Given the description of an element on the screen output the (x, y) to click on. 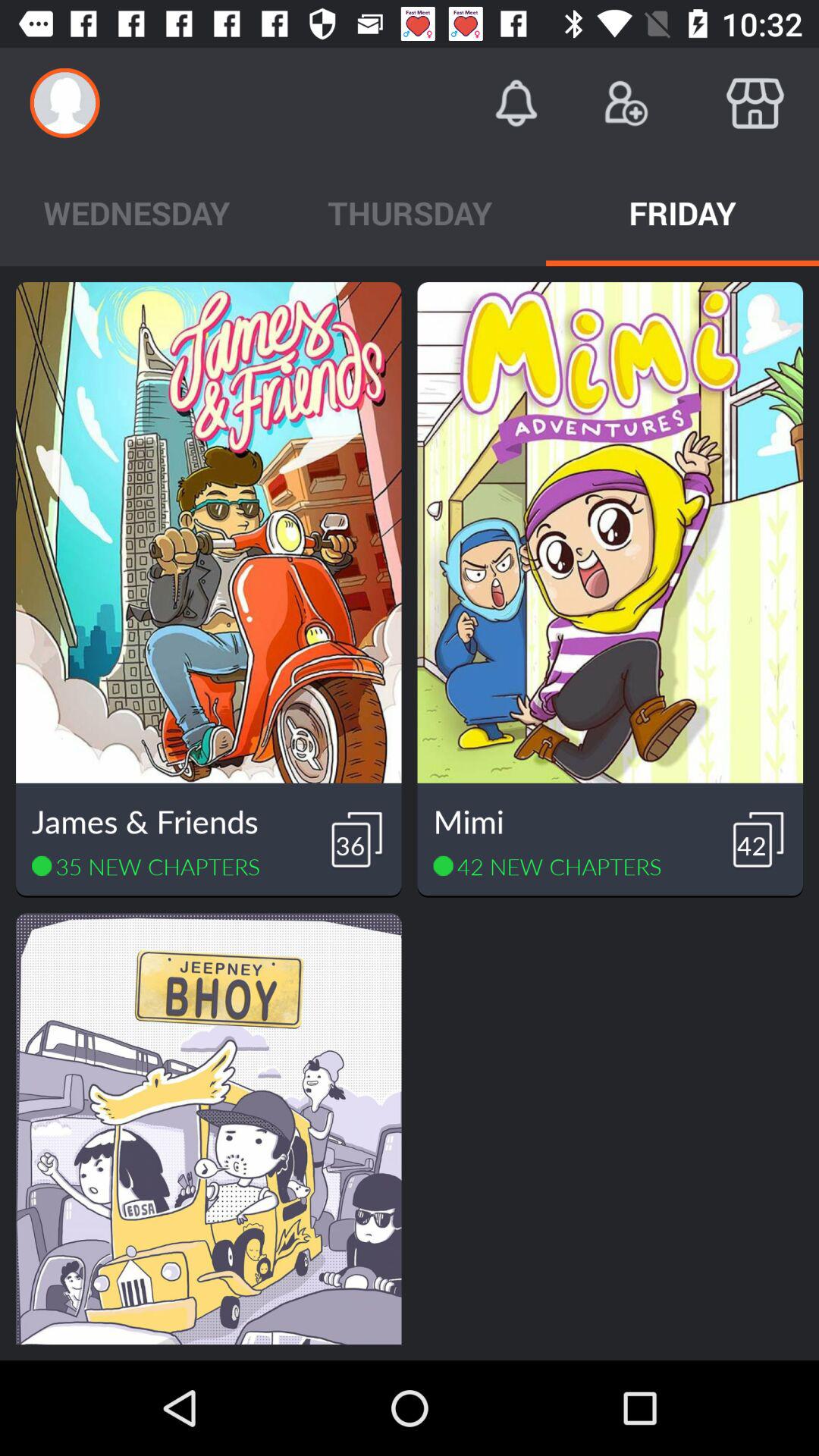
turn on icon above the wednesday (65, 103)
